Given the description of an element on the screen output the (x, y) to click on. 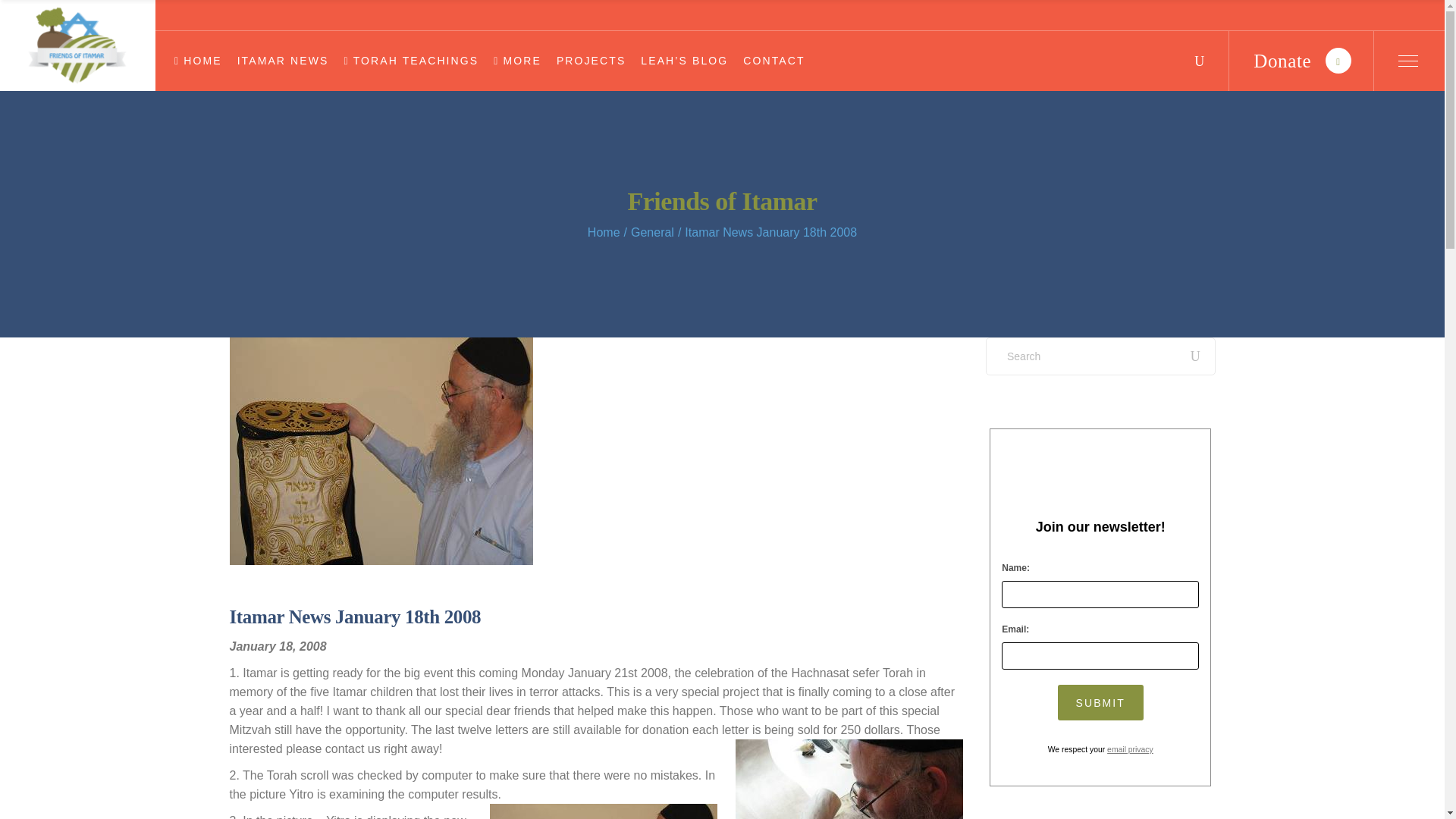
TORAH TEACHINGS (411, 60)
Submit (1099, 702)
Torah Covering (603, 811)
PROJECTS (591, 60)
Privacy Policy (1129, 749)
ITAMAR NEWS (283, 60)
Yitro Asheri (848, 779)
Search for: (1100, 356)
